Given the description of an element on the screen output the (x, y) to click on. 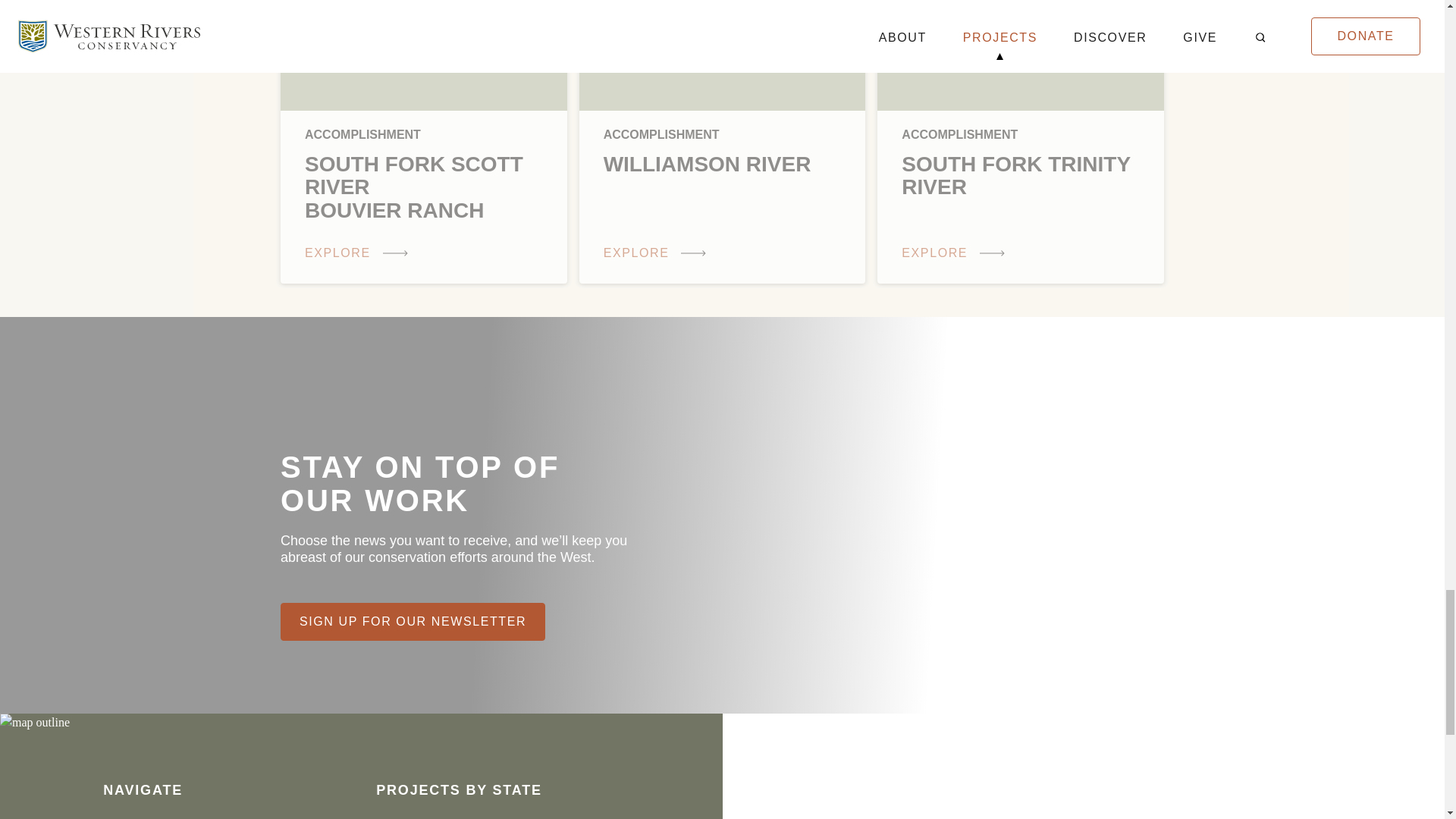
SOUTH FORK TRINITY RIVER (1020, 176)
EXPLORE (657, 256)
EXPLORE (359, 256)
WILLIAMSON RIVER (722, 164)
